Given the description of an element on the screen output the (x, y) to click on. 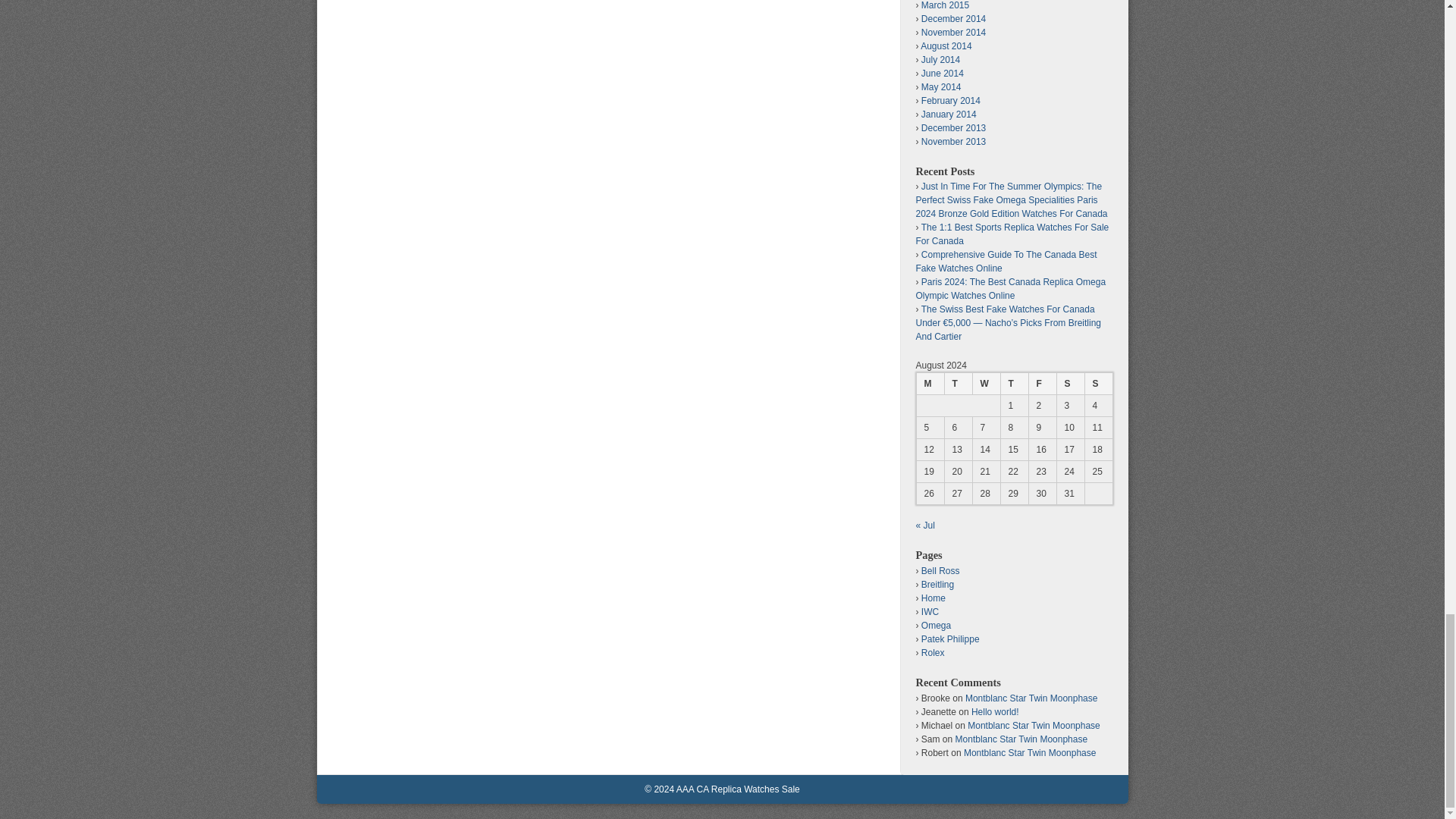
Friday (1042, 382)
Thursday (1012, 382)
Monday (929, 382)
Saturday (1069, 382)
Tuesday (957, 382)
Wednesday (986, 382)
Sunday (1098, 382)
